Given the description of an element on the screen output the (x, y) to click on. 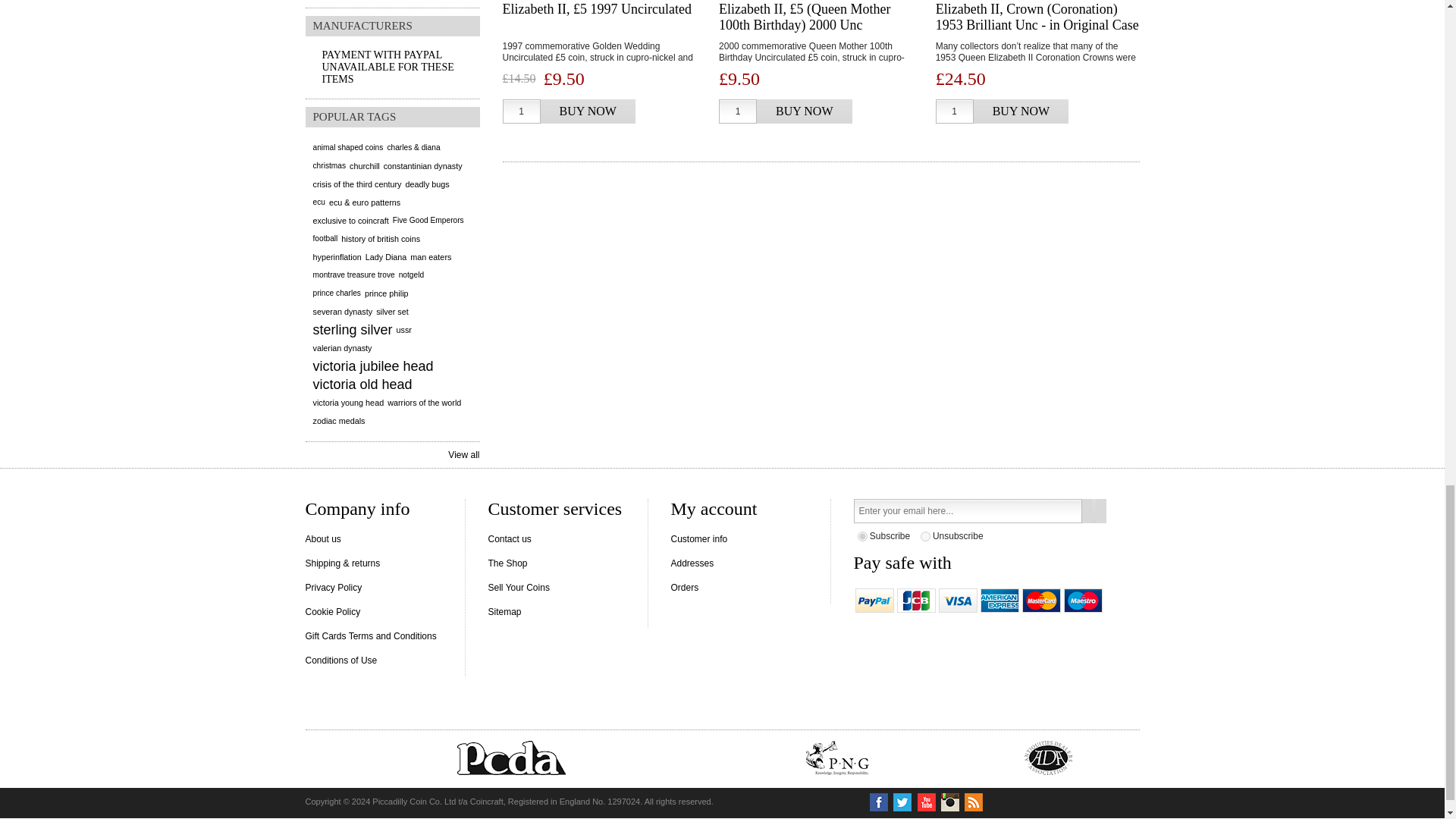
1 (738, 111)
1 (521, 111)
Send (1093, 510)
Buy Now (587, 111)
Buy Now (804, 111)
Buy Now (1021, 111)
1 (955, 111)
